Given the description of an element on the screen output the (x, y) to click on. 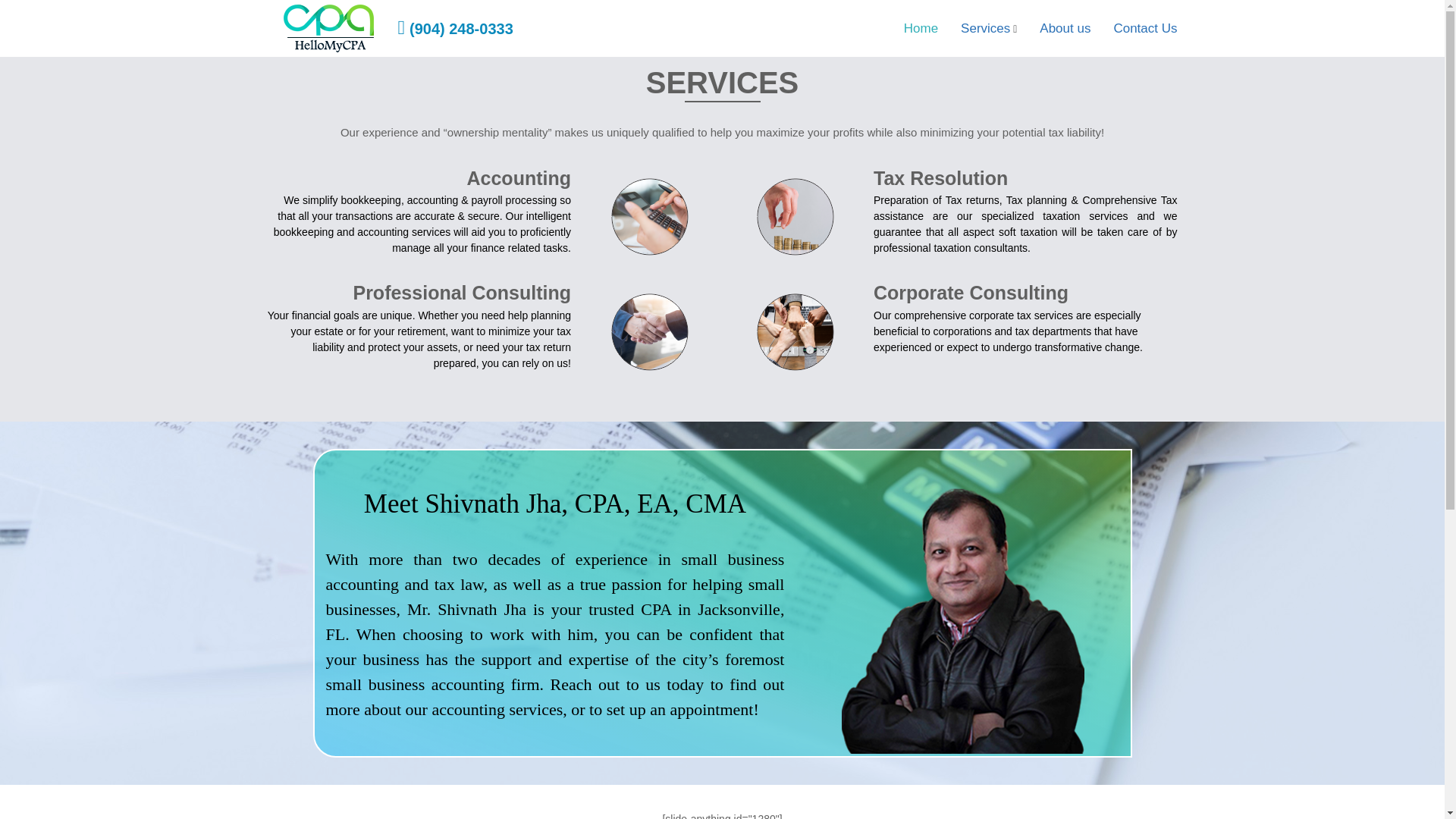
Services (985, 28)
Contact Us (1144, 28)
Home (920, 28)
About us (1064, 28)
